Given the description of an element on the screen output the (x, y) to click on. 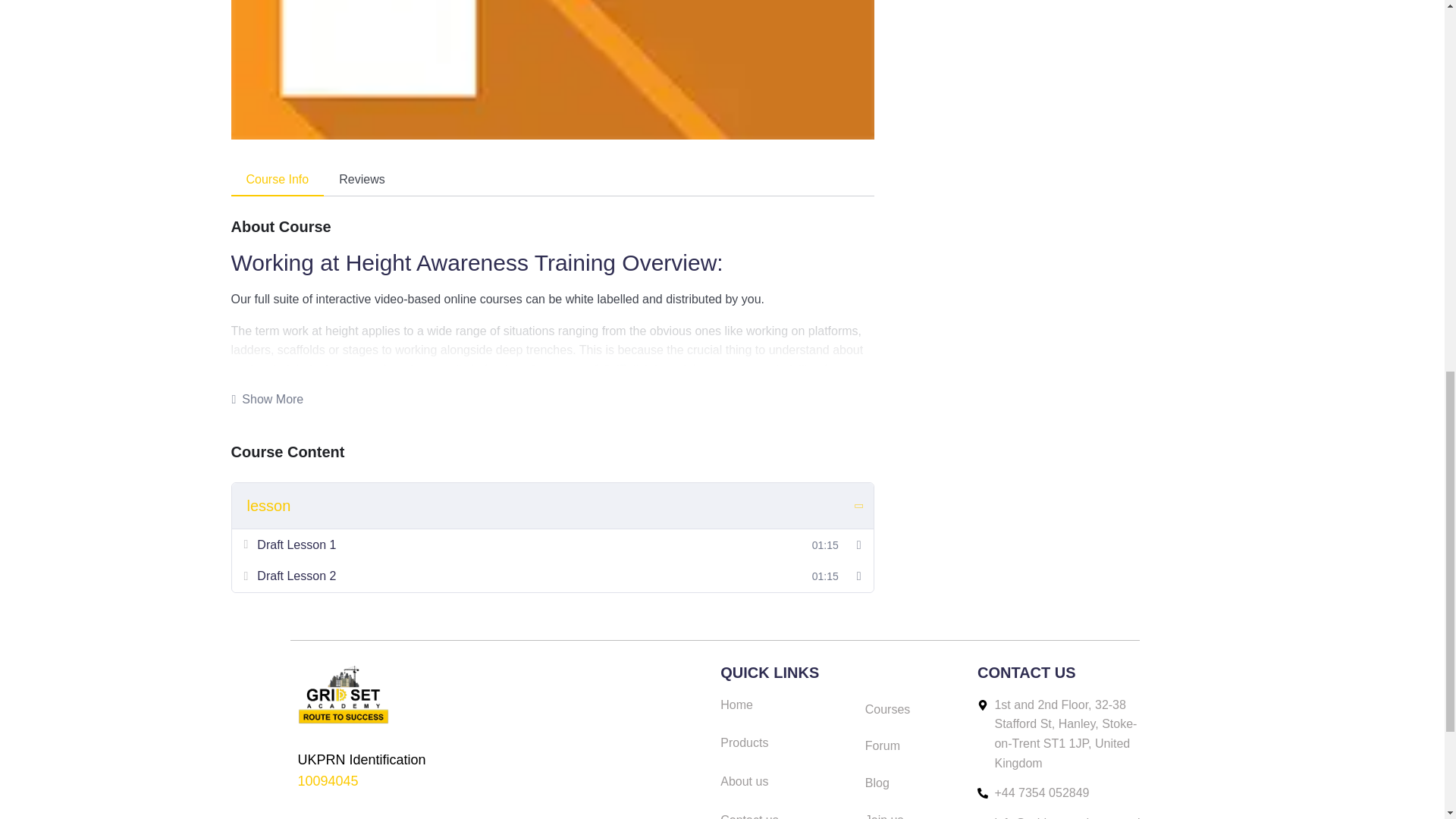
Home (785, 704)
Products (785, 742)
Reviews (360, 180)
Show More (267, 399)
Contact us (785, 814)
About us (785, 781)
Course Info (276, 180)
